Given the description of an element on the screen output the (x, y) to click on. 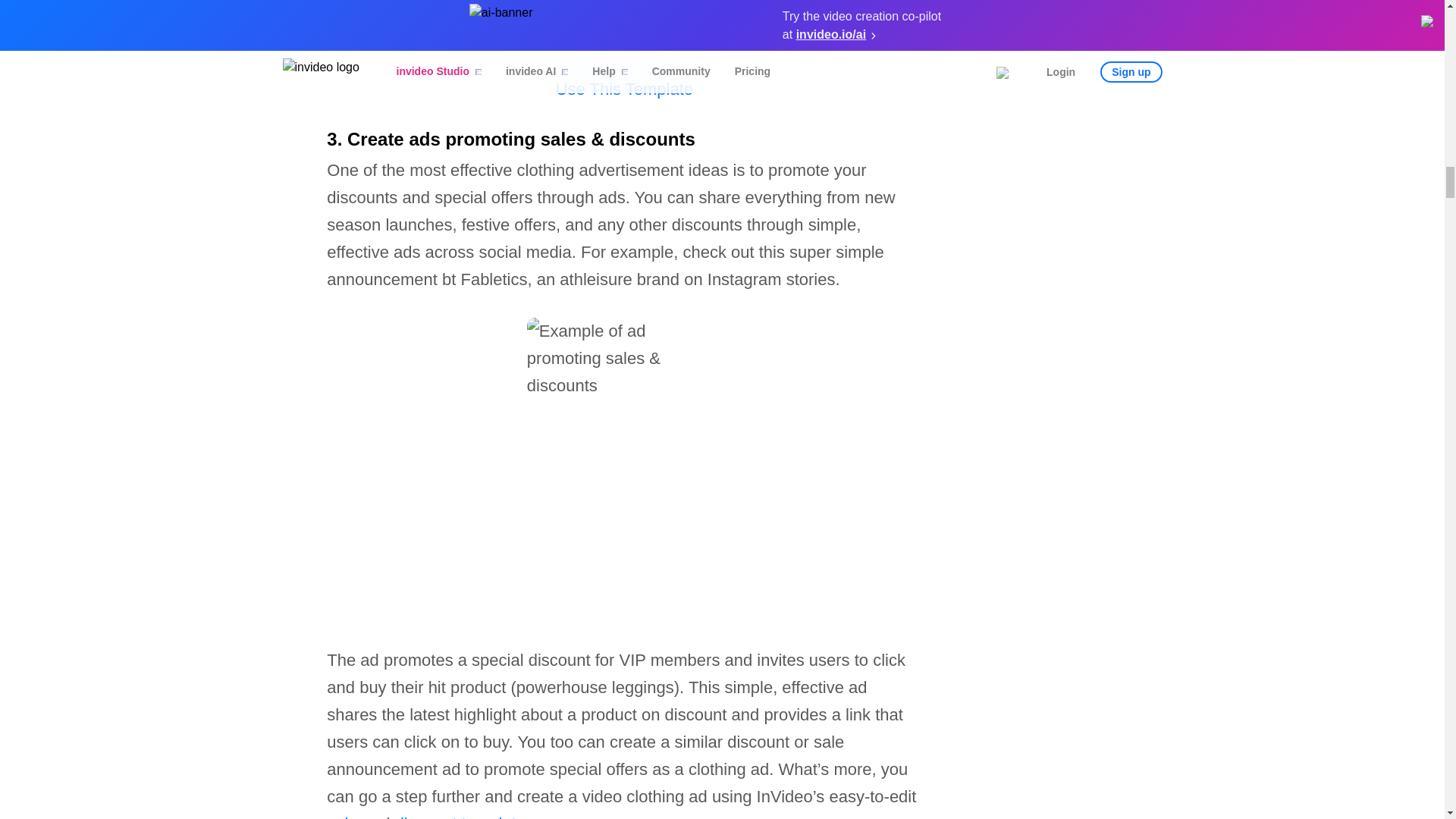
discount templates (464, 816)
sale (341, 816)
Use This Template (624, 88)
